Given the description of an element on the screen output the (x, y) to click on. 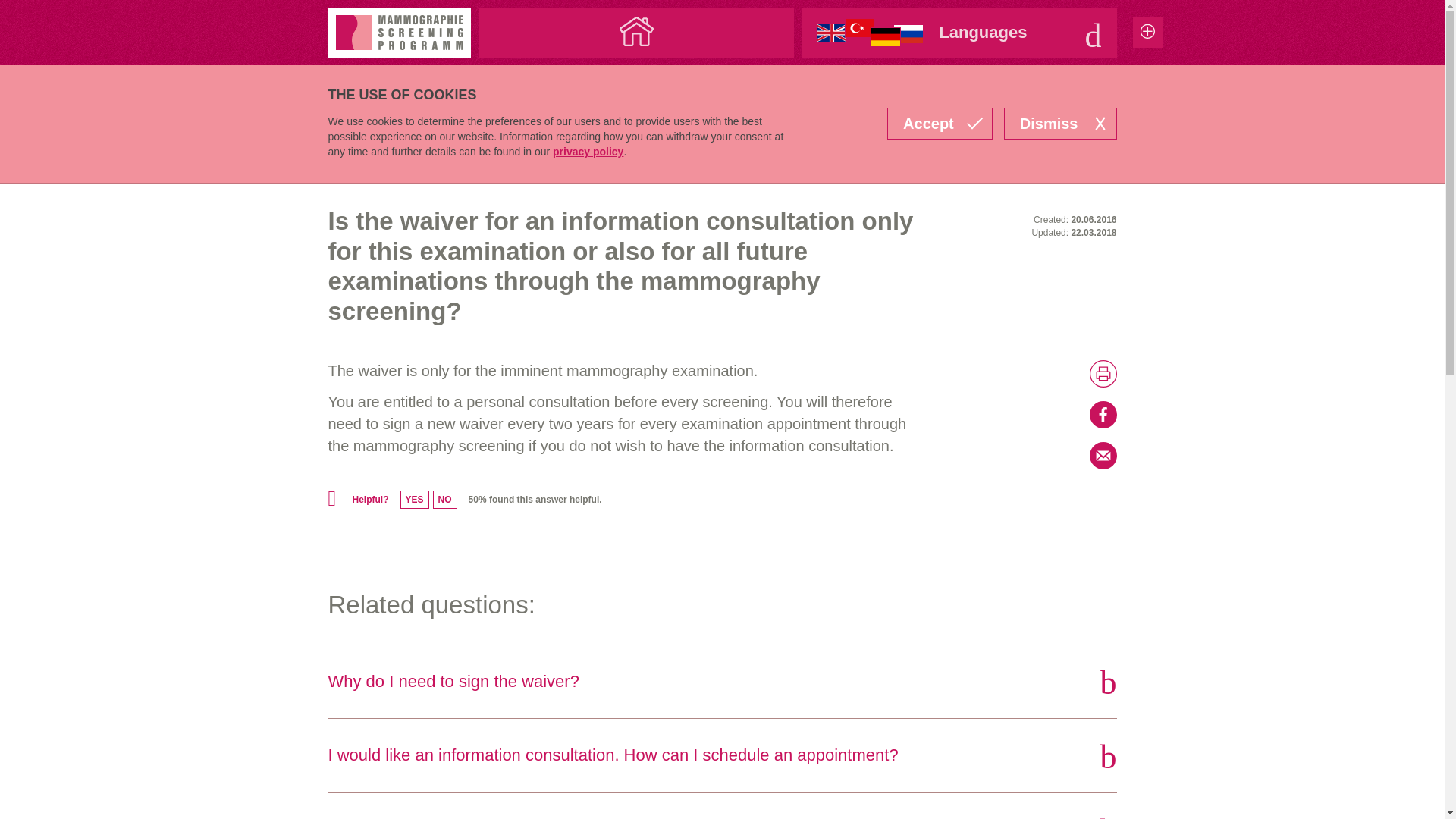
Why do I need to sign the waiver? (721, 682)
share on Facebook (1026, 414)
Dismiss (1060, 123)
NO (444, 499)
Accept (939, 123)
Accept use of cookies. (939, 123)
YES (414, 499)
Languages (958, 32)
How long does an information consultation take? (721, 806)
